Given the description of an element on the screen output the (x, y) to click on. 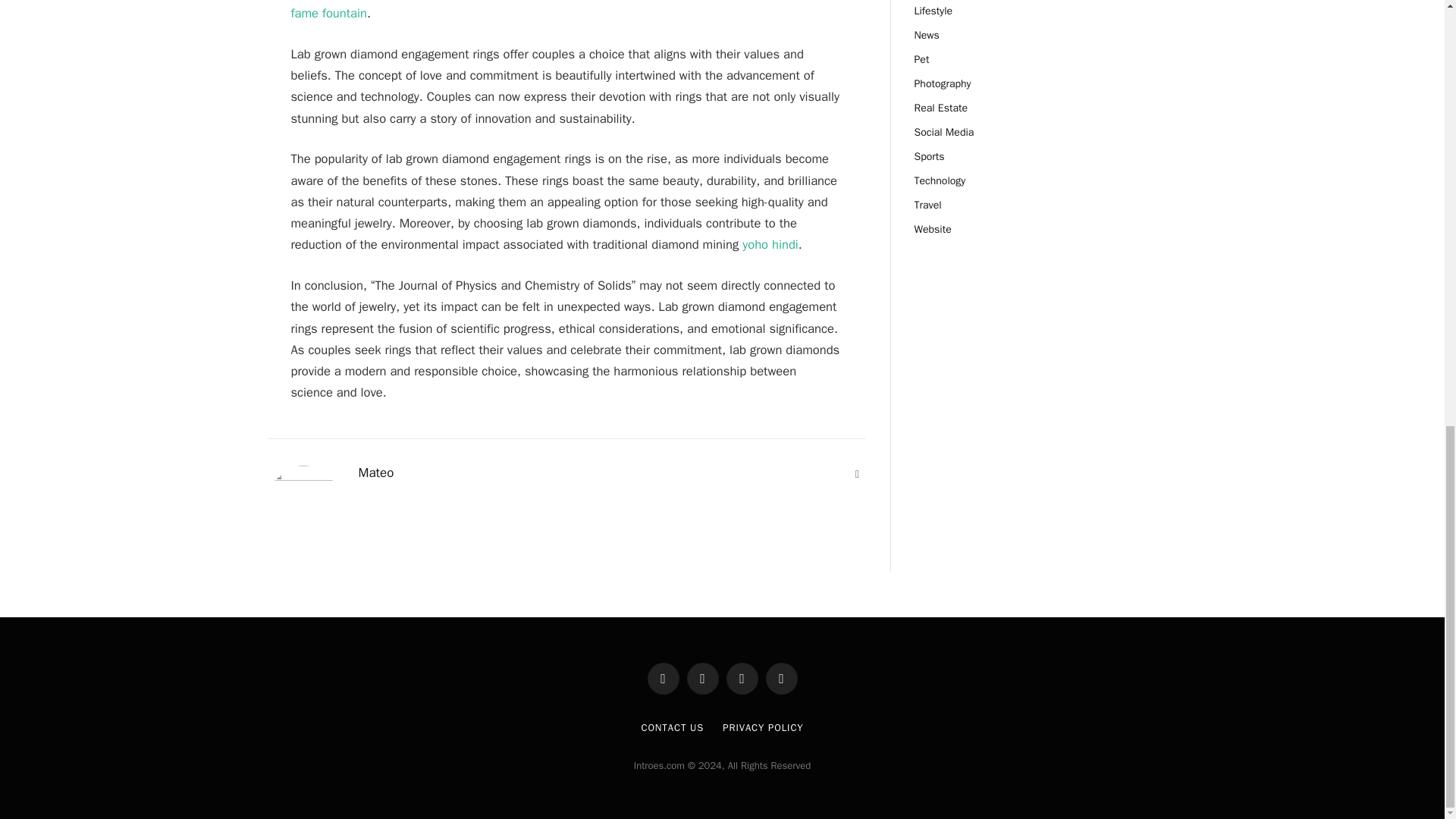
fame fountain (328, 12)
yoho hindi (769, 244)
Mateo (375, 473)
Website (856, 474)
Website (856, 474)
Posts by Mateo (375, 473)
